Given the description of an element on the screen output the (x, y) to click on. 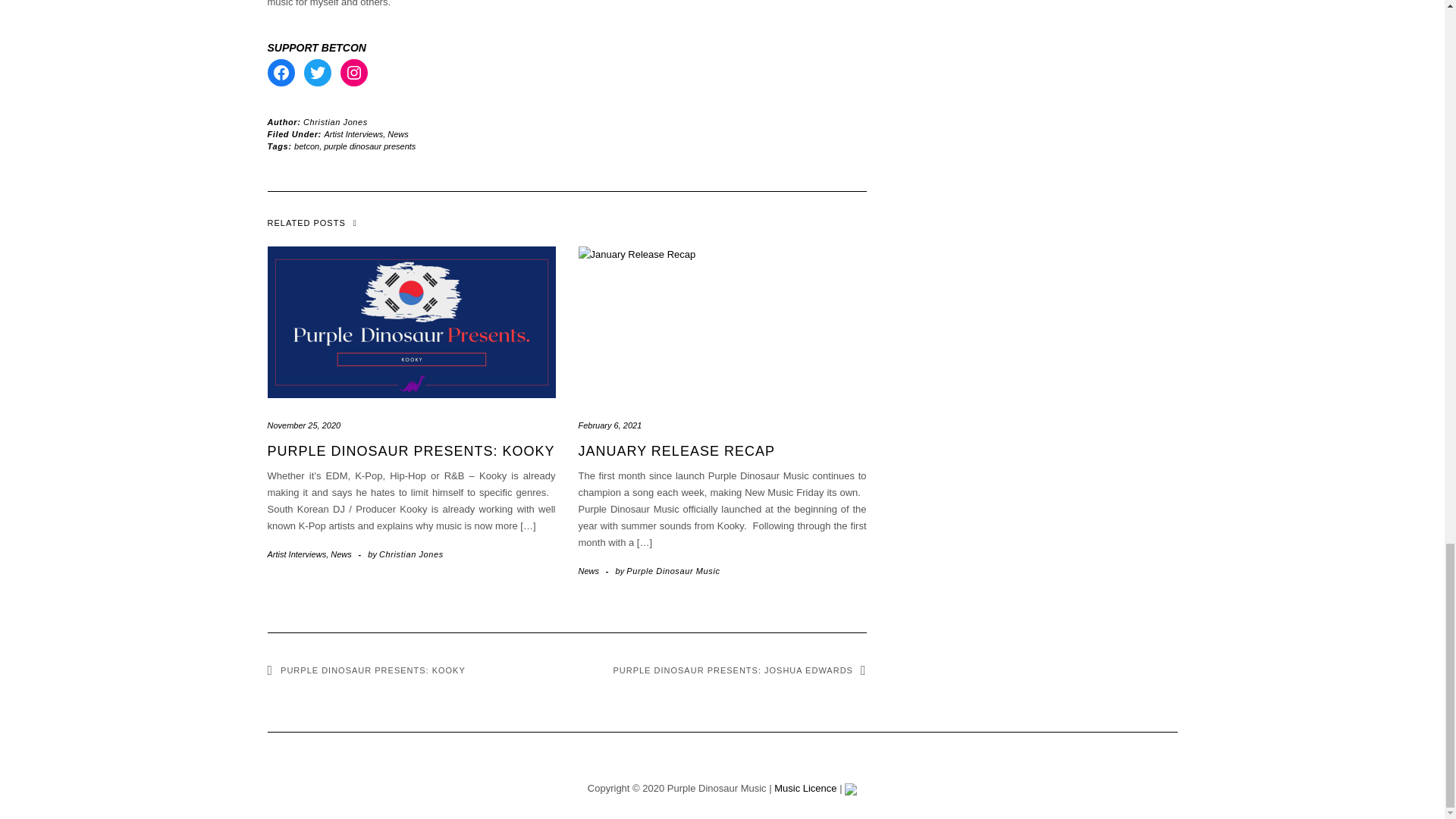
Facebook (280, 72)
News (398, 133)
PURPLE DINOSAUR PRESENTS: JOSHUA EDWARDS (739, 669)
PURPLE DINOSAUR PRESENTS: KOOKY (410, 450)
Instagram (352, 72)
Twitter (316, 72)
January Release Recap (676, 450)
betcon (306, 145)
Purple Dinosaur Presents:  Kooky (410, 450)
News (588, 570)
